Given the description of an element on the screen output the (x, y) to click on. 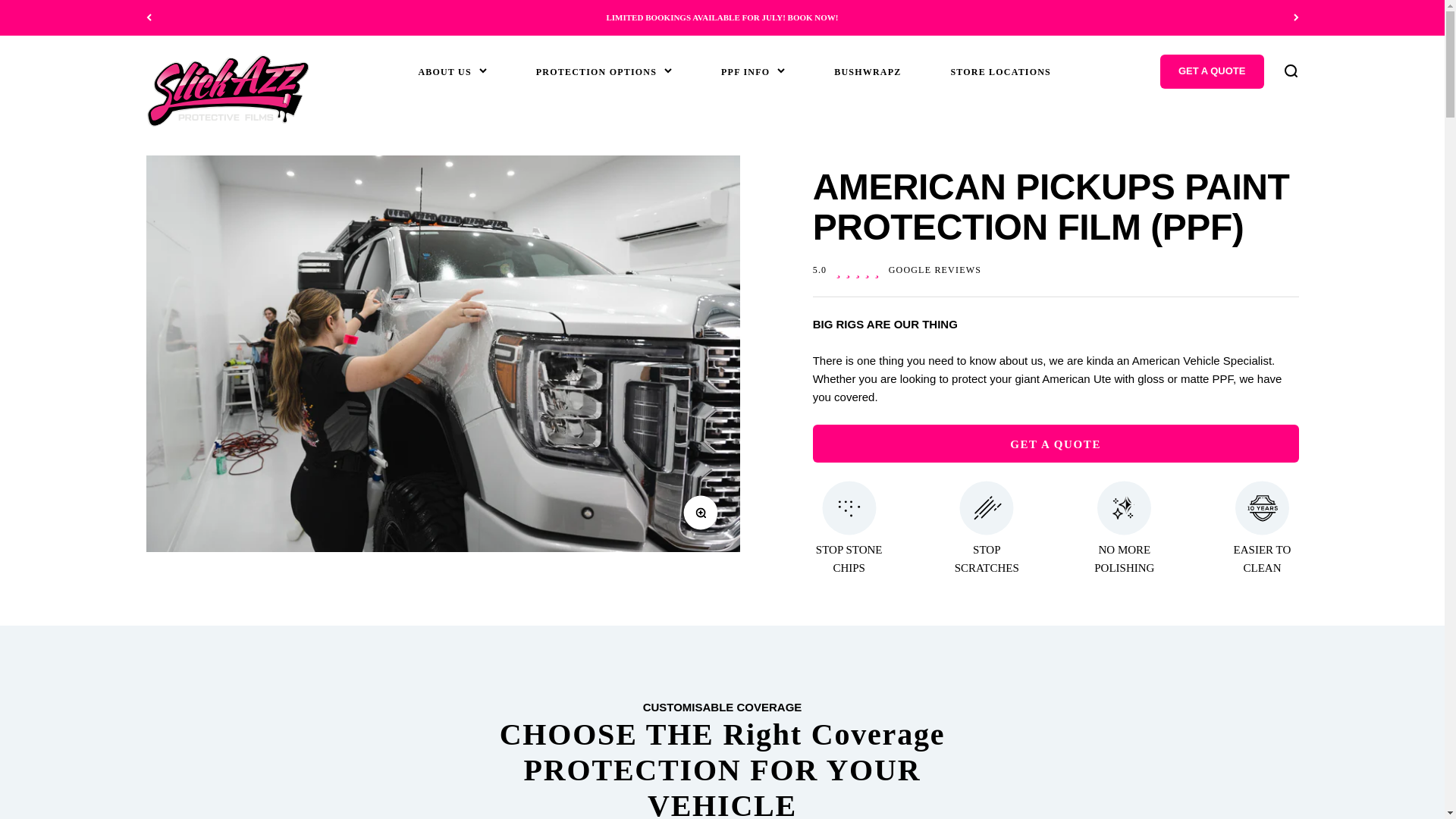
BUSHWRAPZ (867, 71)
SlickAzz Store (226, 90)
LIMITED BOOKINGS AVAILABLE FOR JULY! BOOK NOW! (721, 17)
GET A QUOTE (1211, 71)
Open search (896, 269)
Zoom (1289, 71)
STORE LOCATIONS (703, 517)
